Given the description of an element on the screen output the (x, y) to click on. 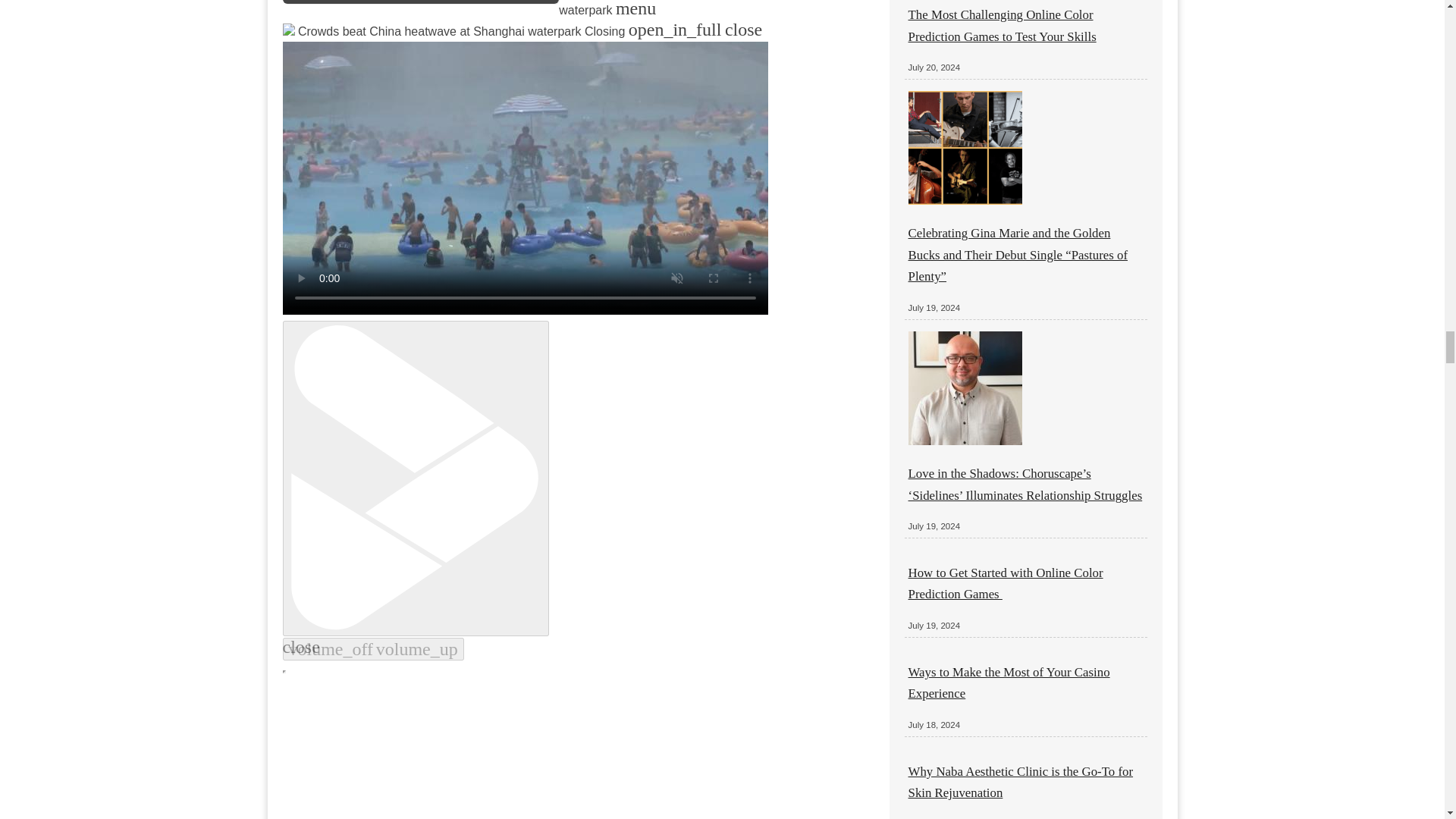
How to Get Started with Online Color Prediction Games  (1005, 583)
Why Naba Aesthetic Clinic is the Go-To for Skin Rejuvenation (1021, 782)
Ways to Make the Most of Your Casino Experience (1008, 683)
